Given the description of an element on the screen output the (x, y) to click on. 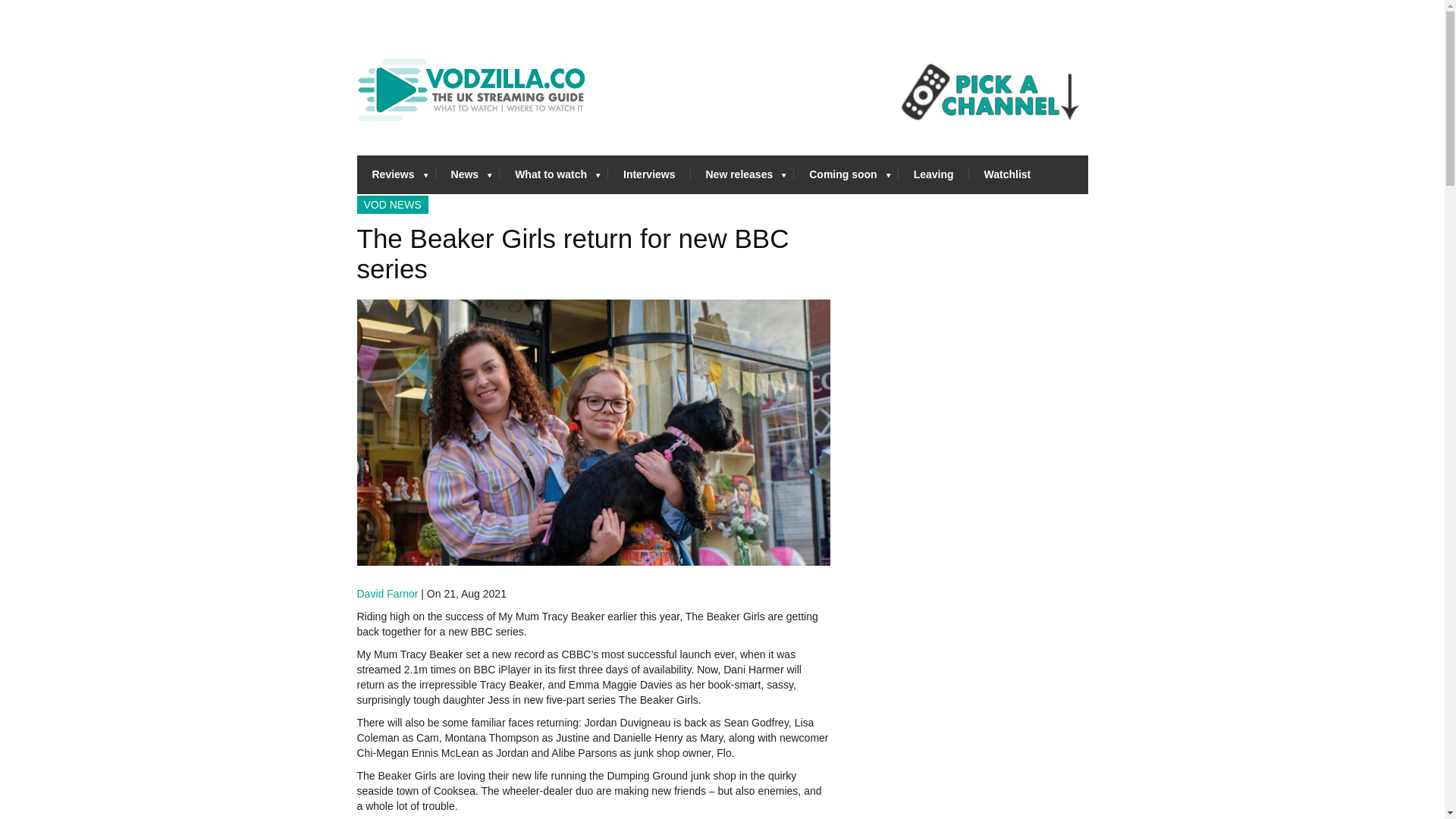
Interviews (649, 174)
New releases (741, 174)
Coming soon (845, 174)
